Given the description of an element on the screen output the (x, y) to click on. 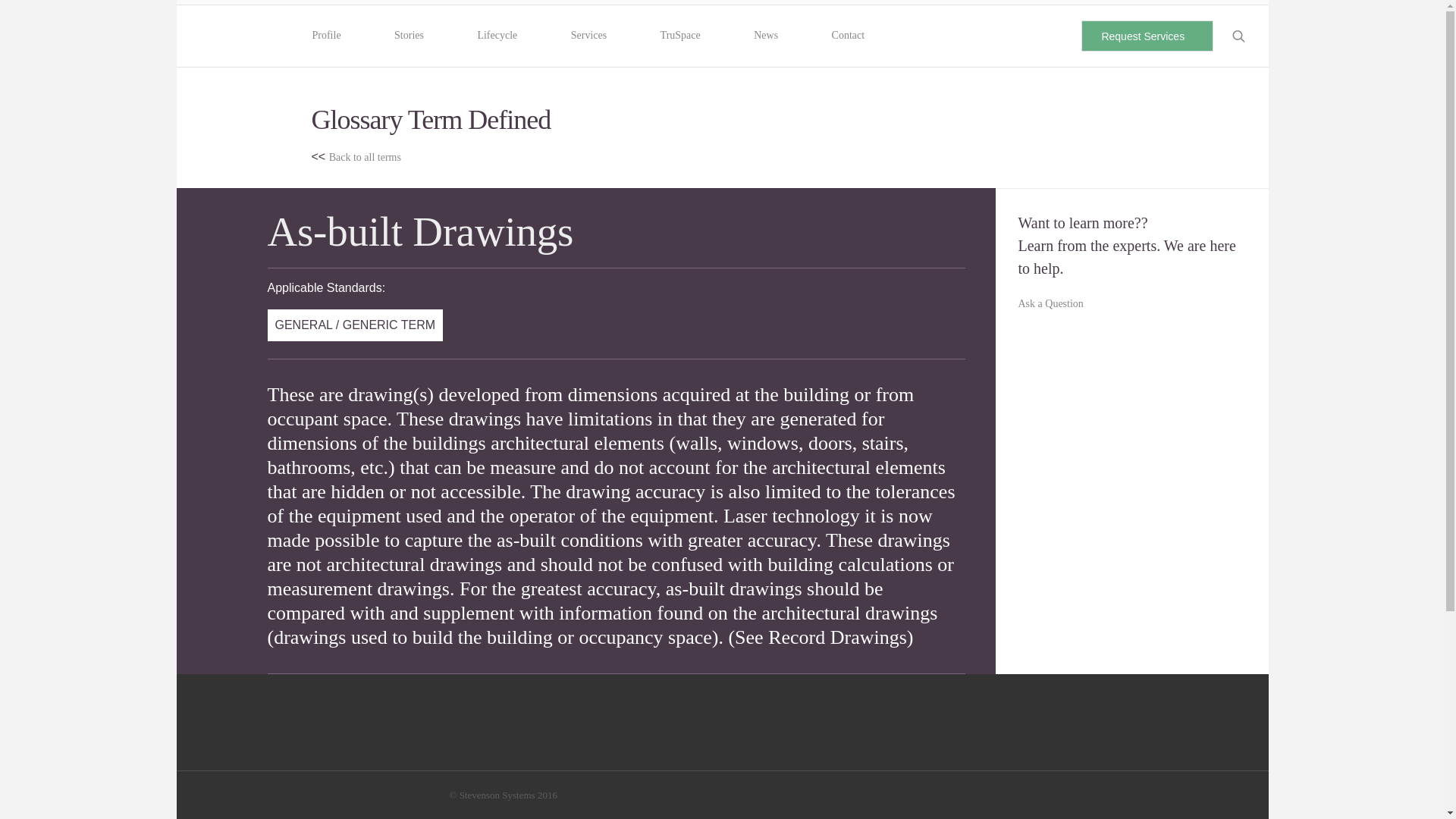
Ask a Question (1050, 303)
Cloud (1018, 657)
Peter L. Stevenson (488, 657)
Services (588, 35)
Municipal Tax Measurements (773, 627)
Services (1023, 617)
Contact (847, 35)
Measurement Standard Questions (777, 472)
Our View (488, 598)
TruSpace (679, 35)
